Given the description of an element on the screen output the (x, y) to click on. 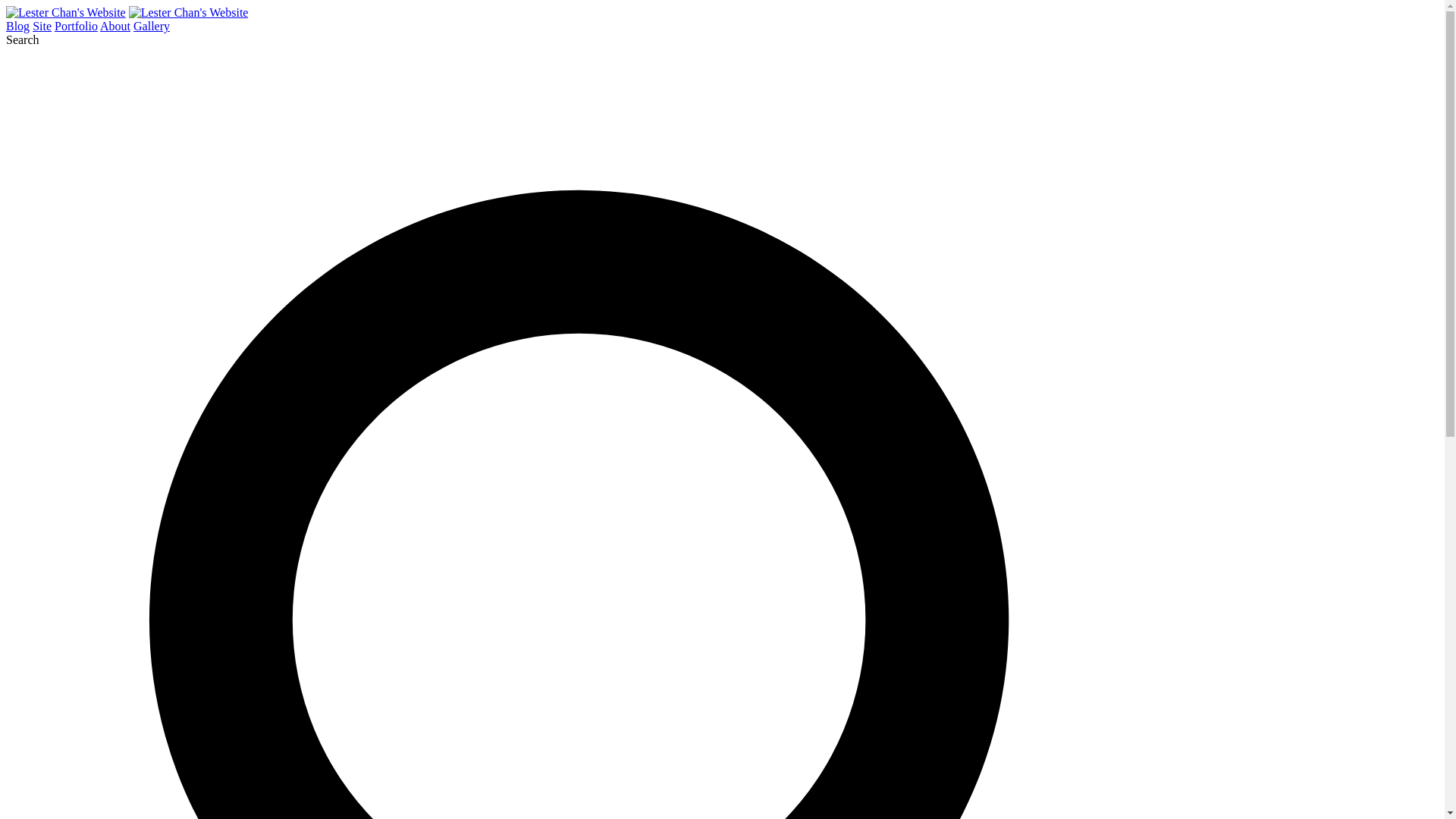
Gallery (151, 25)
Site (41, 25)
Lester Chan's Website (188, 11)
Portfolio (76, 25)
Blog (17, 25)
Lester Chan's Website (65, 11)
About (115, 25)
